Given the description of an element on the screen output the (x, y) to click on. 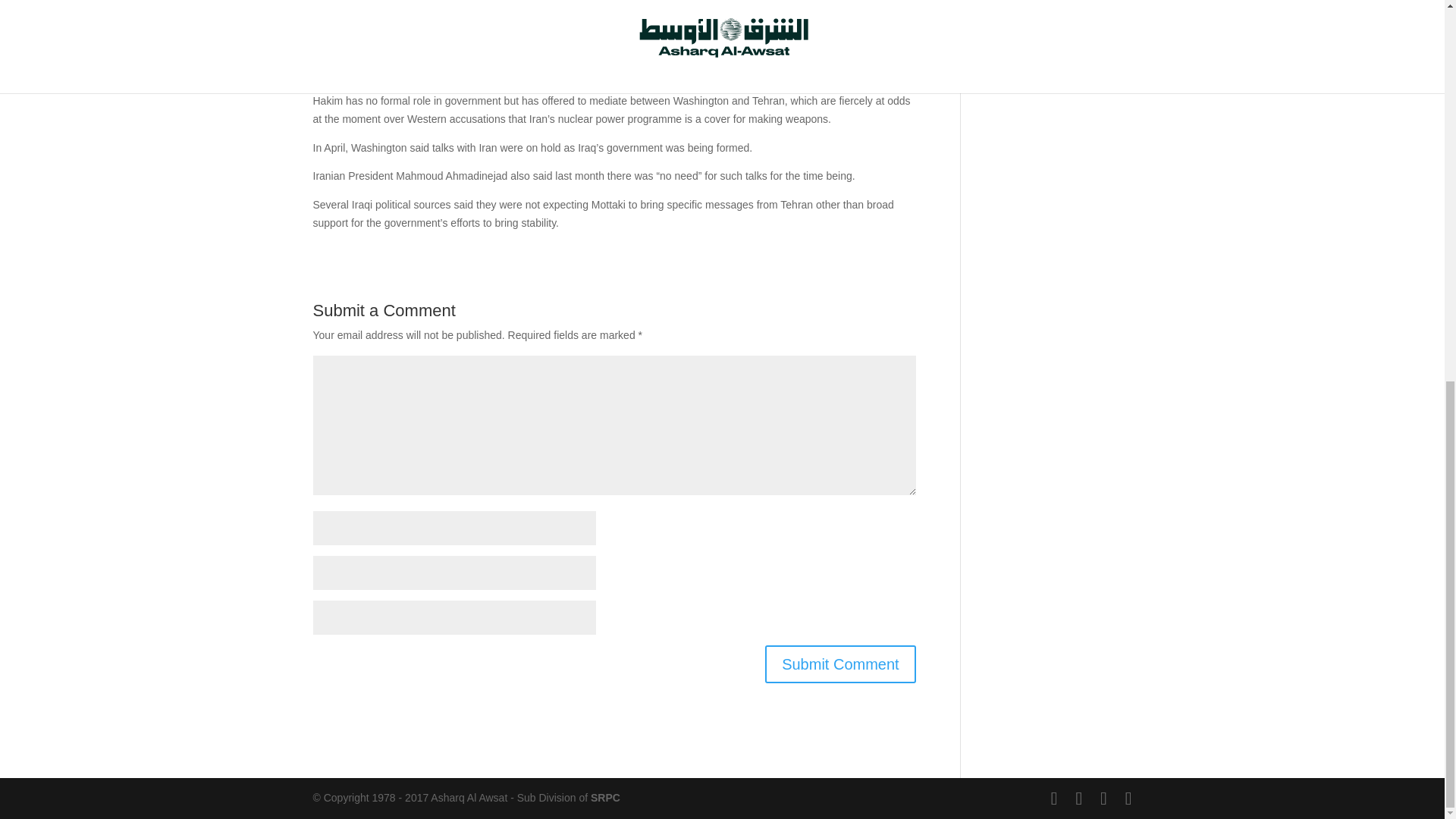
Submit Comment (840, 664)
SRPC (605, 797)
Submit Comment (840, 664)
